Given the description of an element on the screen output the (x, y) to click on. 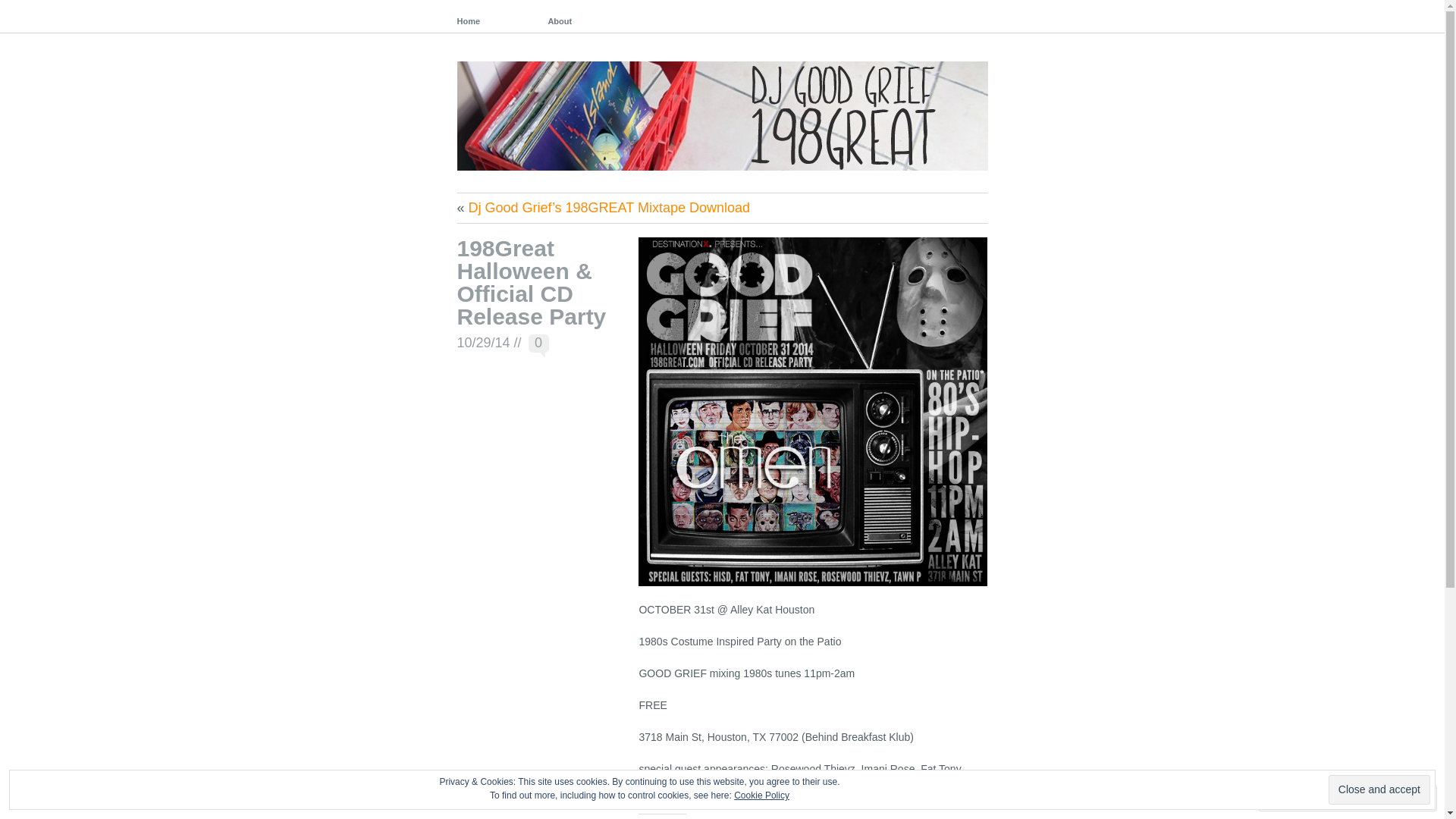
0 Element type: text (538, 344)
Follow Element type: text (1374, 797)
Cookie Policy Element type: text (761, 795)
198GREAT Element type: text (721, 105)
198Great Halloween & Official CD Release Party Element type: text (530, 282)
About Element type: text (585, 16)
10/29/14 Element type: text (482, 342)
Comment Element type: text (1299, 797)
Close and accept Element type: text (1379, 789)
Home Element type: text (494, 16)
